Given the description of an element on the screen output the (x, y) to click on. 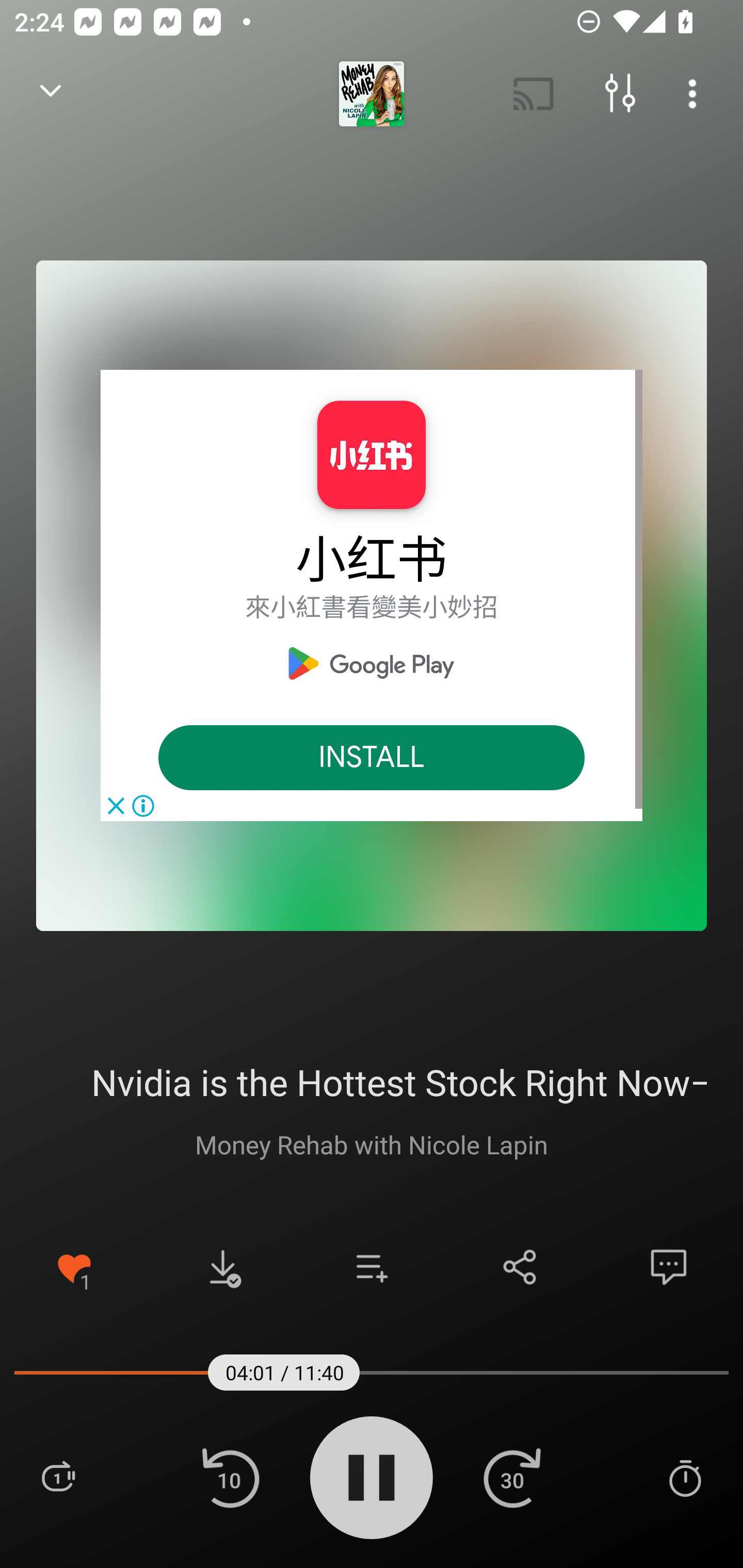
Cast. Disconnected (533, 93)
 Back (50, 94)
小红书 來小紅書看變美小妙招 INSTALL INSTALL (371, 595)
小红书 來小紅書看變美小妙招 INSTALL INSTALL (371, 595)
INSTALL (371, 757)
Money Rehab with Nicole Lapin (371, 1144)
Comments (668, 1266)
Remove from Favorites (73, 1266)
Add to playlist (371, 1266)
Share (519, 1266)
 Playlist (57, 1477)
Sleep Timer  (684, 1477)
